Given the description of an element on the screen output the (x, y) to click on. 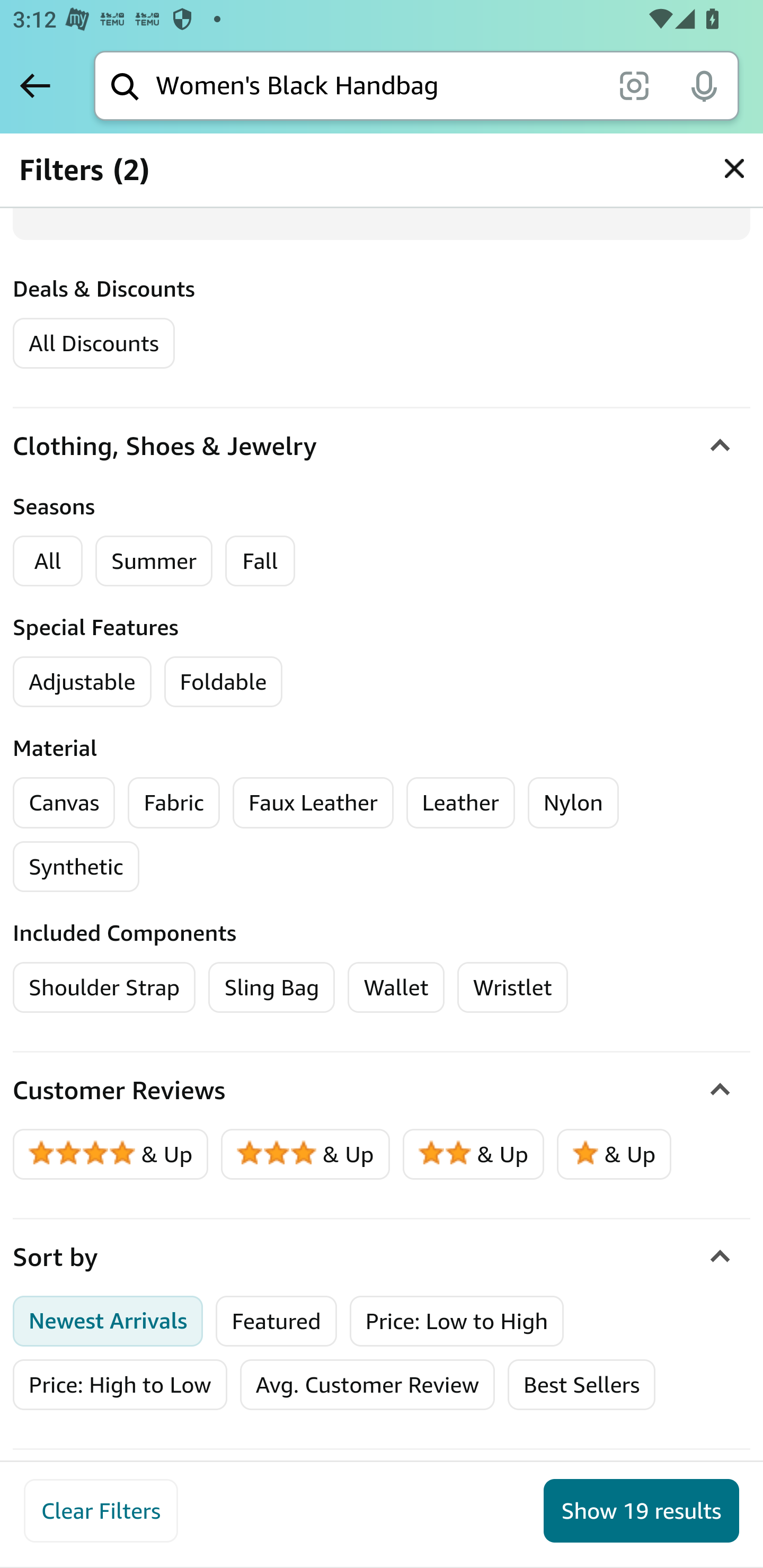
Back (35, 85)
scan it (633, 85)
All Discounts (93, 342)
Clothing, Shoes & Jewelry (381, 445)
All (47, 561)
Summer (153, 561)
Fall (260, 561)
Adjustable (82, 682)
Foldable (223, 682)
Canvas (63, 803)
Fabric (174, 803)
Faux Leather (312, 803)
Leather (460, 803)
Nylon (572, 803)
Synthetic (75, 866)
Shoulder Strap (104, 987)
Sling Bag (271, 987)
Wallet (395, 987)
Wristlet (512, 987)
Customer Reviews (381, 1091)
4 Stars & Up (110, 1154)
3 Stars & Up (305, 1154)
2 Stars & Up (473, 1154)
1 Star & Up (614, 1154)
Sort by (381, 1257)
Featured (275, 1320)
Price: Low to High (455, 1320)
Price: High to Low (119, 1385)
Avg. Customer Review (366, 1385)
Best Sellers (581, 1385)
Clear Filters (100, 1510)
Show 19 results (641, 1510)
